Given the description of an element on the screen output the (x, y) to click on. 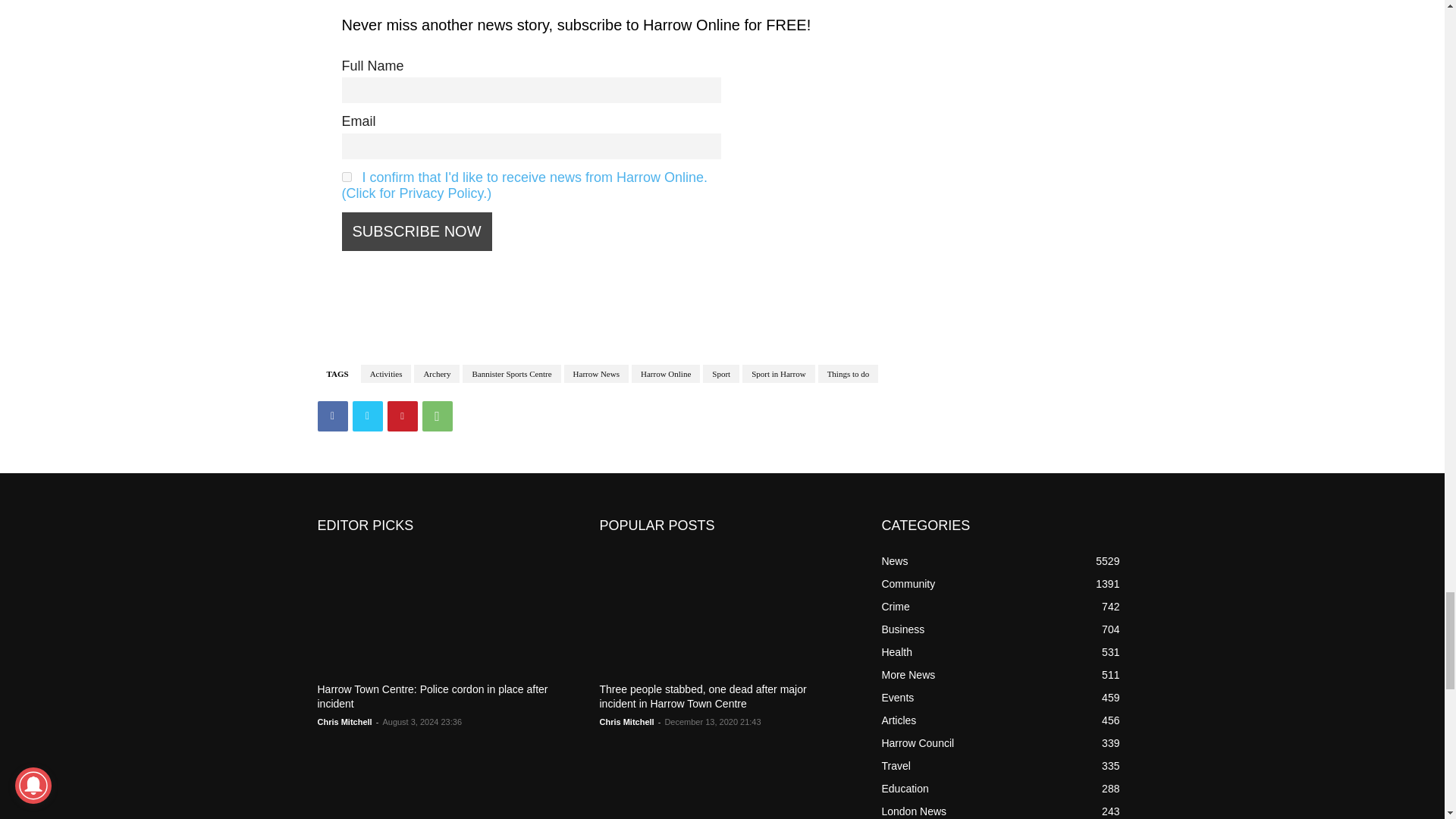
SUBSCRIBE NOW (416, 231)
on (345, 176)
